Given the description of an element on the screen output the (x, y) to click on. 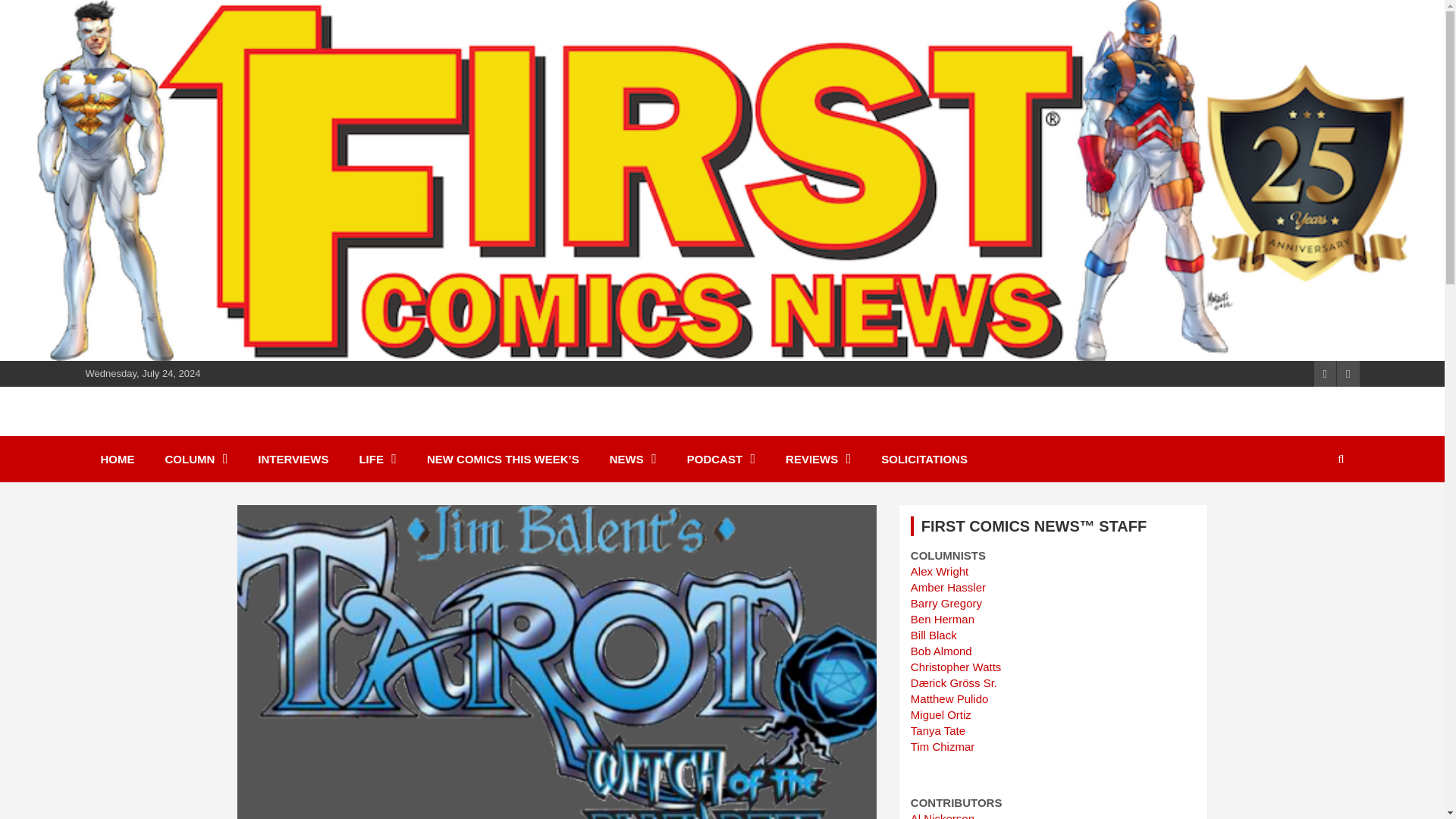
First Comics News (220, 428)
PODCAST (720, 458)
INTERVIEWS (293, 458)
HOME (116, 458)
NEWS (632, 458)
COLUMN (196, 458)
REVIEWS (818, 458)
LIFE (377, 458)
